Given the description of an element on the screen output the (x, y) to click on. 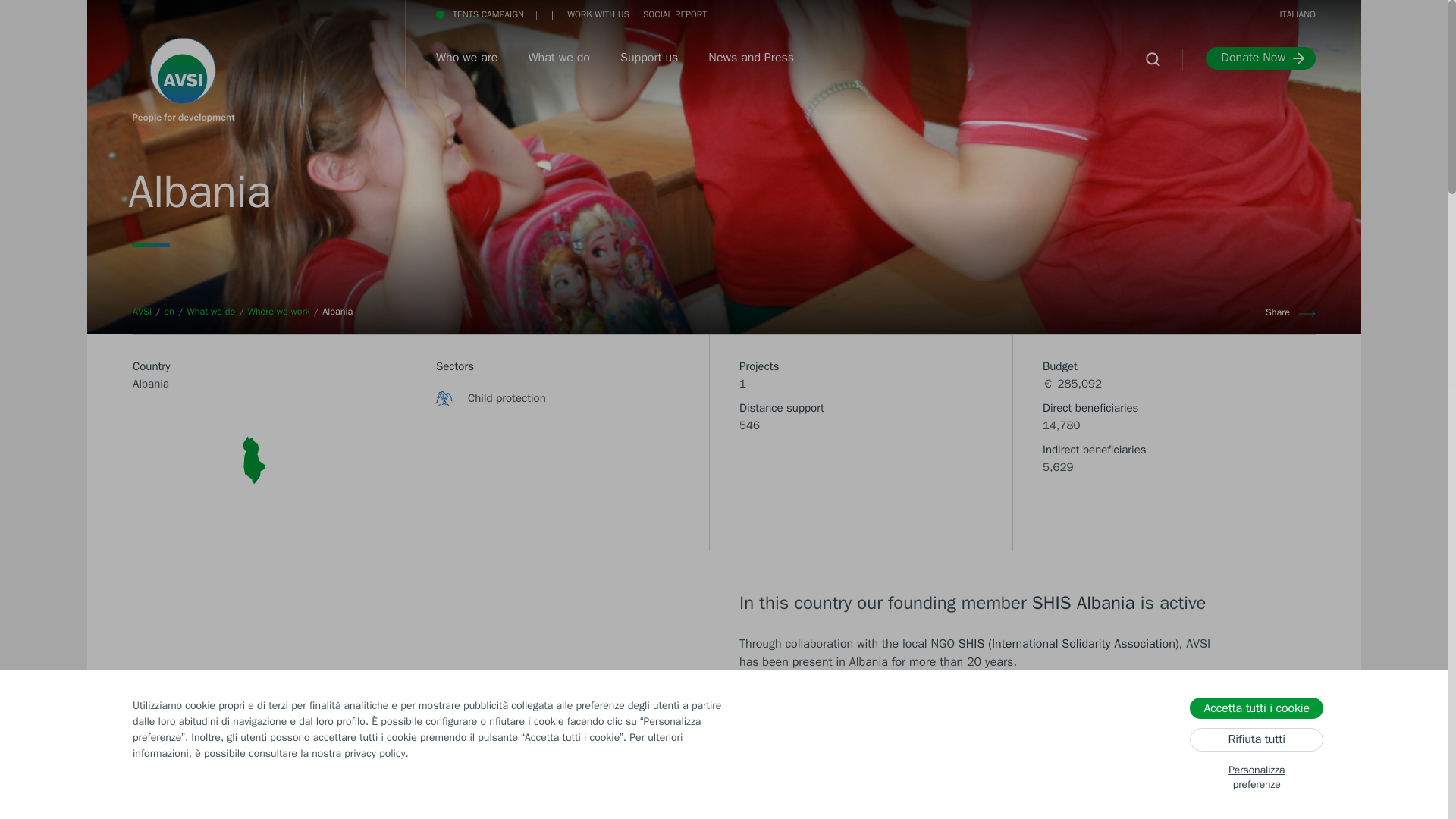
News and Press (750, 58)
Who we are (466, 58)
ITALIANO (1297, 14)
SOCIAL REPORT (954, 14)
Where we work (278, 310)
AVSI (141, 310)
TENTS CAMPAIGN (479, 14)
Support us (649, 58)
What we do (210, 310)
Donate Now (1260, 57)
WORK WITH US (597, 14)
What we do (558, 58)
